Given the description of an element on the screen output the (x, y) to click on. 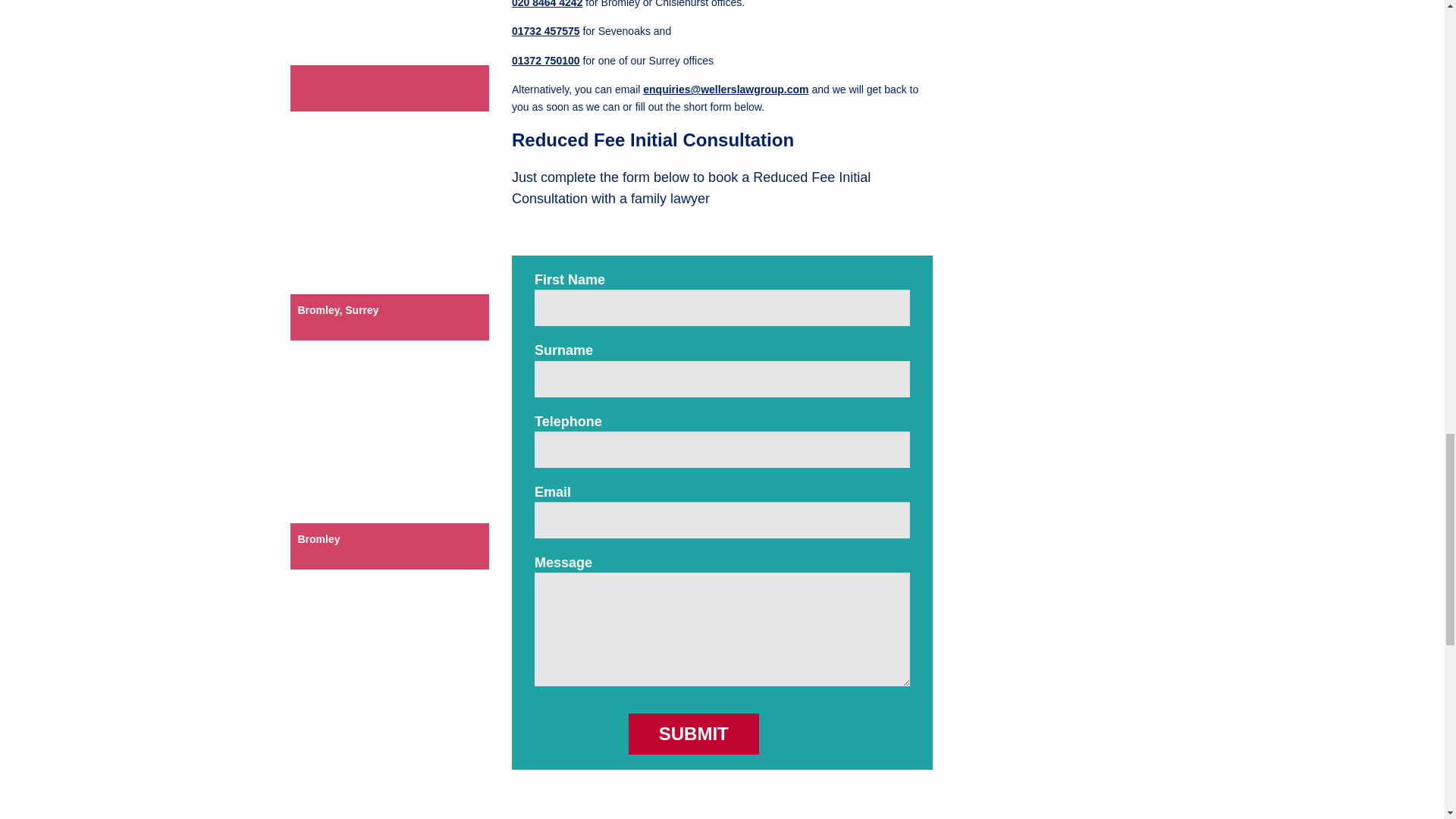
Submit (693, 733)
